Given the description of an element on the screen output the (x, y) to click on. 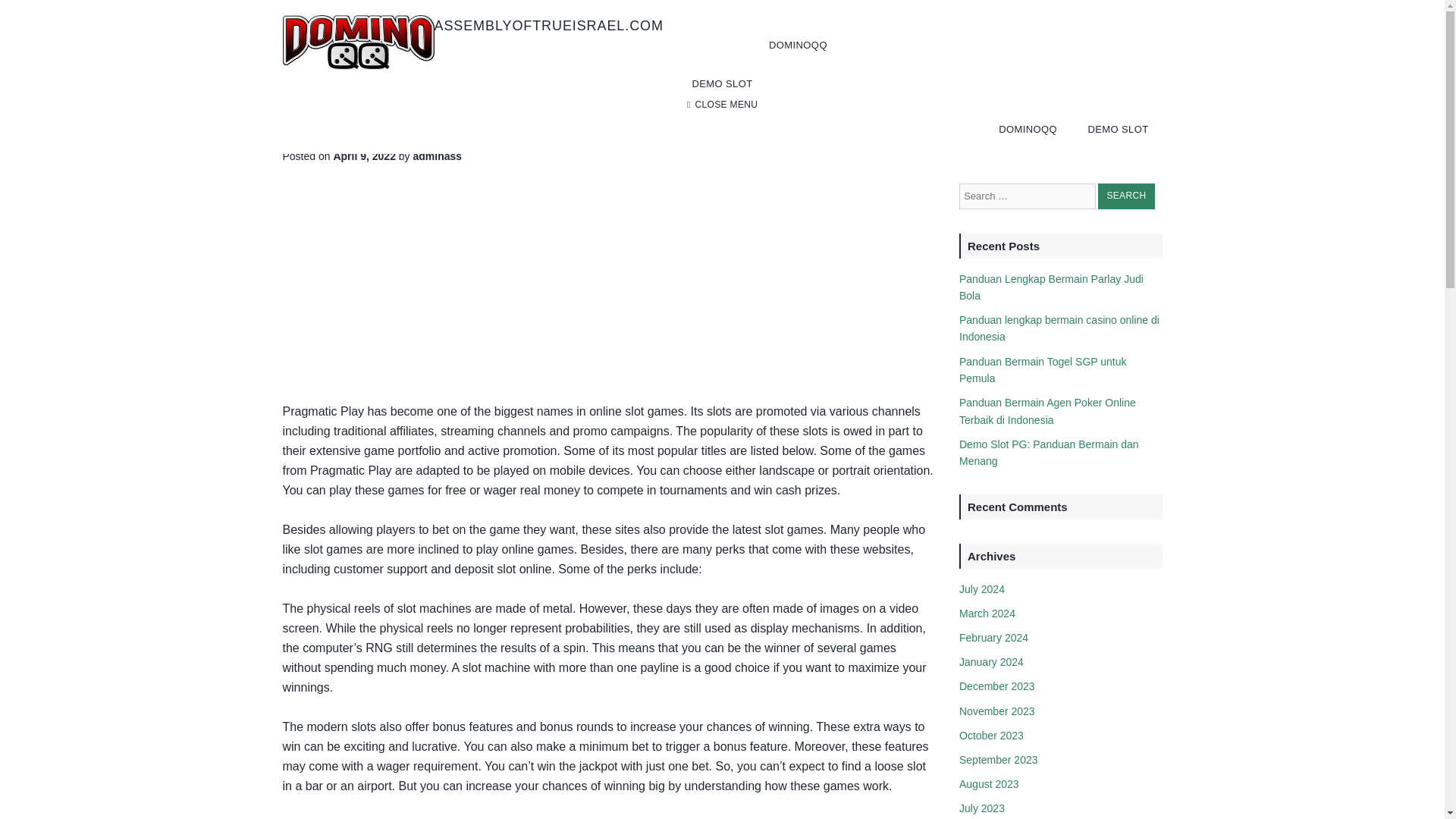
JUDI ONLINE (318, 89)
CLOSE MENU (721, 104)
November 2023 (997, 711)
DEMO SLOT (721, 83)
DEMO SLOT (1117, 129)
DOMINOQQ (797, 44)
September 2023 (998, 759)
July 2024 (981, 589)
March 2024 (986, 613)
Panduan Bermain Agen Poker Online Terbaik di Indonesia (1047, 410)
adminass (438, 155)
Demo Slot PG: Panduan Bermain dan Menang (1048, 452)
February 2024 (993, 637)
April 9, 2022 (364, 155)
Panduan Lengkap Bermain Parlay Judi Bola (1050, 287)
